Given the description of an element on the screen output the (x, y) to click on. 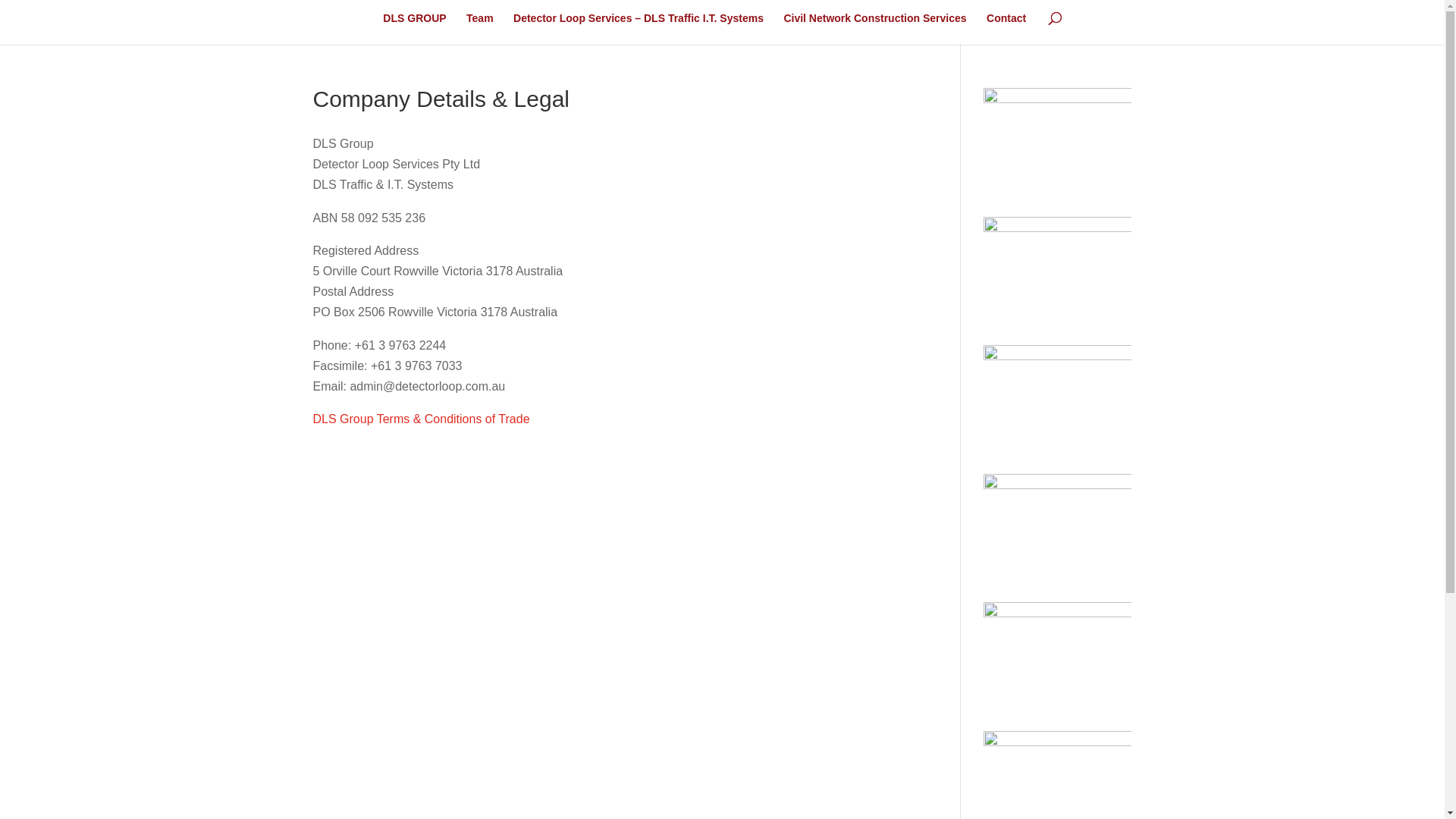
Team Element type: text (479, 28)
Civil Network Construction Services Element type: text (874, 28)
DLS GROUP Element type: text (413, 28)
DLS Group Terms & Conditions of Trade Element type: text (420, 418)
Contact Element type: text (1006, 28)
